Given the description of an element on the screen output the (x, y) to click on. 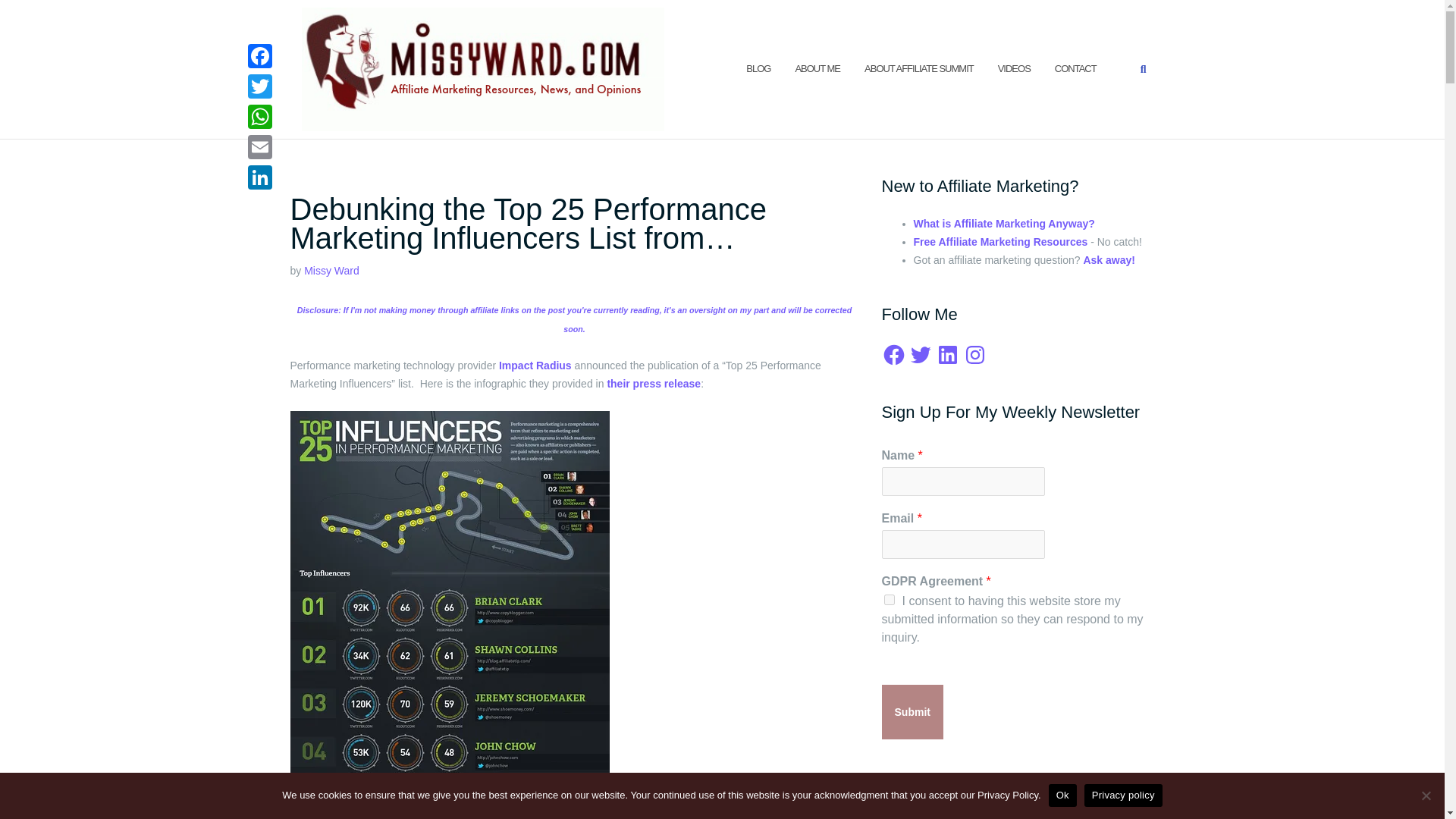
ABOUT AFFILIATE SUMMIT (919, 69)
Contact (1075, 69)
BLOG (757, 69)
Videos (1013, 69)
Blog (757, 69)
CONTACT (1075, 69)
their press release (653, 383)
Missy Ward (331, 270)
Missy Ward (331, 270)
About Me (817, 69)
ABOUT ME (817, 69)
Impact Radius (535, 365)
VIDEOS (1013, 69)
About Affiliate Summit (919, 69)
